Given the description of an element on the screen output the (x, y) to click on. 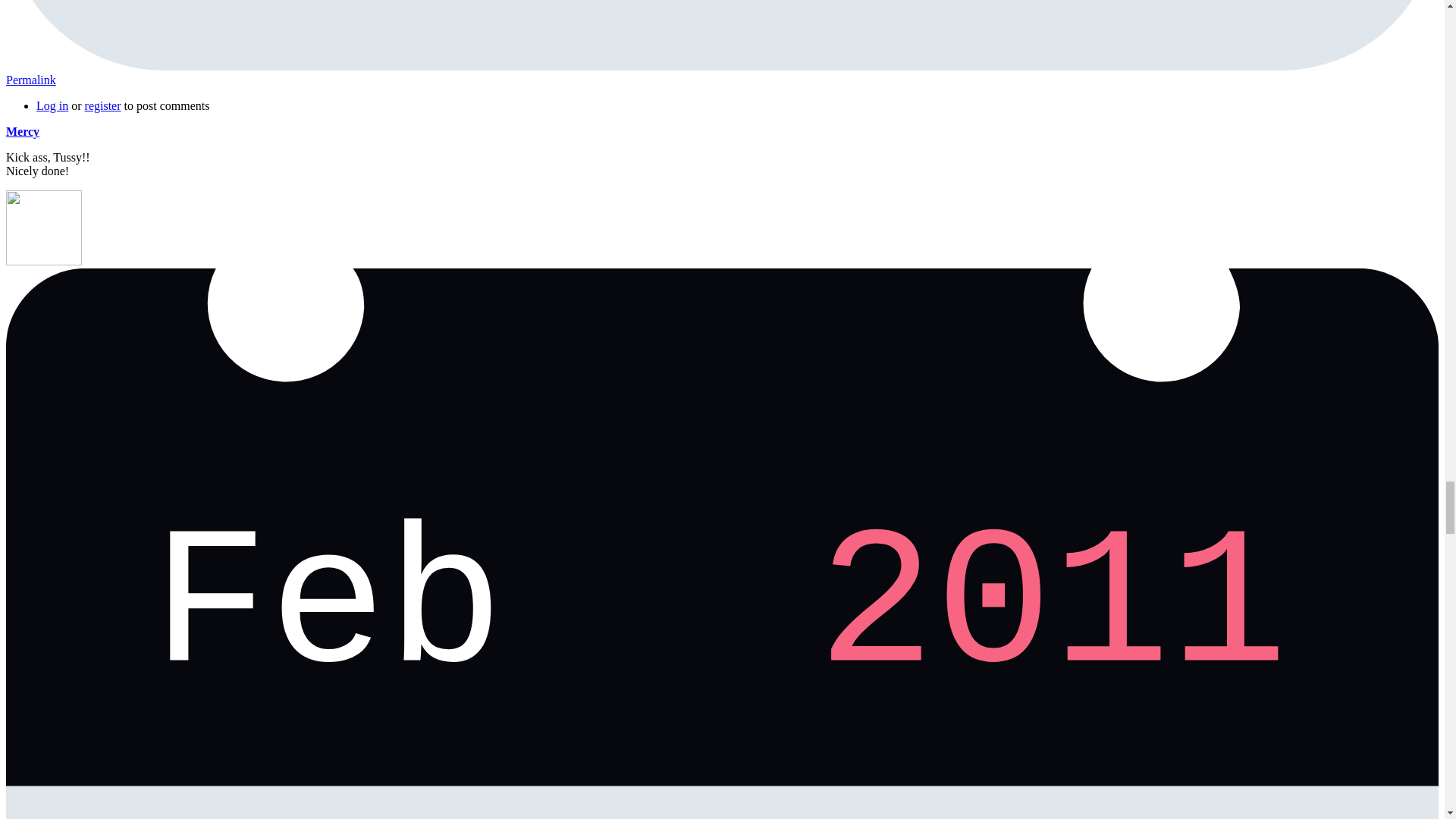
Log in (52, 105)
Permalink (30, 79)
register (102, 105)
Mercy (22, 131)
View user profile. (22, 131)
